Given the description of an element on the screen output the (x, y) to click on. 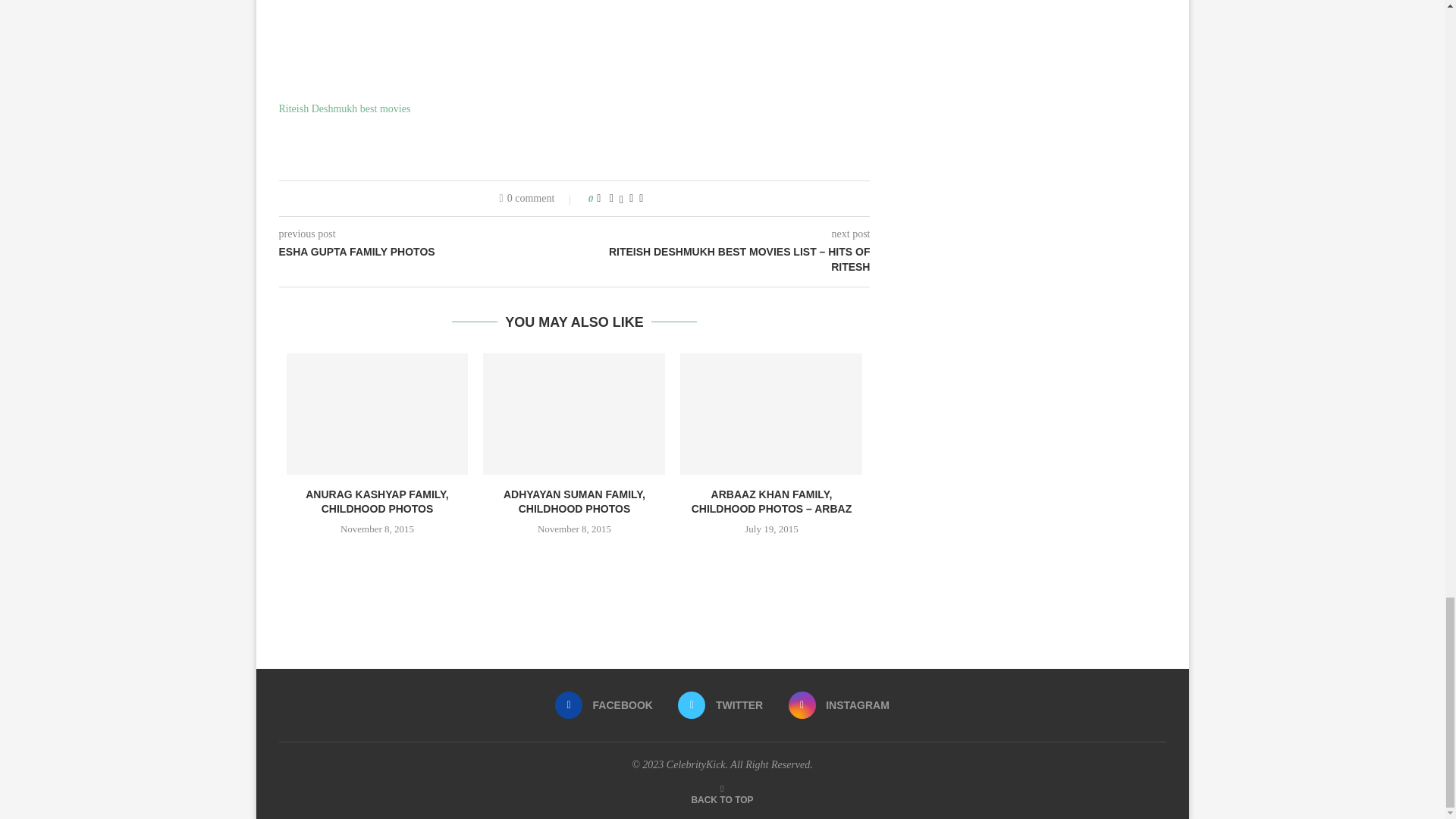
Riteish Deshmukh best movies (344, 108)
Adhyayan Suman family, childhood photos (574, 413)
ESHA GUPTA FAMILY PHOTOS (427, 252)
Like (597, 198)
Anurag Kashyap family, childhood photos (377, 413)
